Given the description of an element on the screen output the (x, y) to click on. 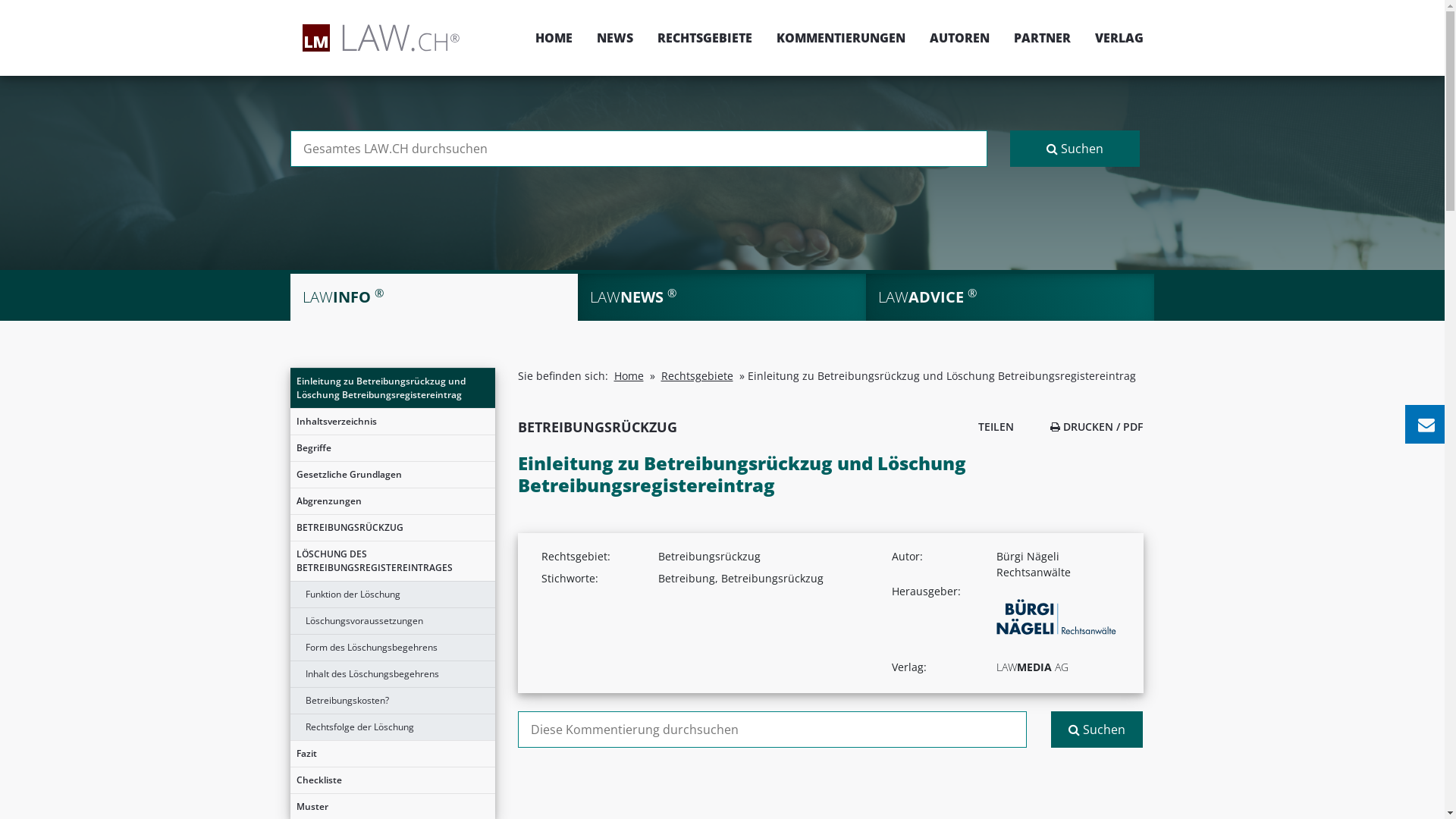
Home Element type: text (628, 375)
Inhaltsverzeichnis Element type: text (391, 421)
Betreibungskosten? Element type: text (391, 700)
PARTNER Element type: text (1041, 37)
Suchen nach: Element type: hover (637, 148)
RECHTSGEBIETE Element type: text (703, 37)
VERLAG Element type: text (1112, 37)
Suchen nach: Element type: hover (771, 729)
 TEILEN Element type: text (991, 426)
AUTOREN Element type: text (959, 37)
NEWS Element type: text (613, 37)
HOME Element type: text (553, 37)
Abgrenzungen Element type: text (391, 501)
Begriffe Element type: text (391, 448)
 DRUCKEN / PDF Element type: text (1096, 426)
Gesetzliche Grundlagen Element type: text (391, 474)
Rechtsgebiete Element type: text (697, 375)
Checkliste Element type: text (391, 780)
KOMMENTIERUNGEN Element type: text (840, 37)
Fazit Element type: text (391, 753)
Skip to content Element type: text (1443, 0)
